Given the description of an element on the screen output the (x, y) to click on. 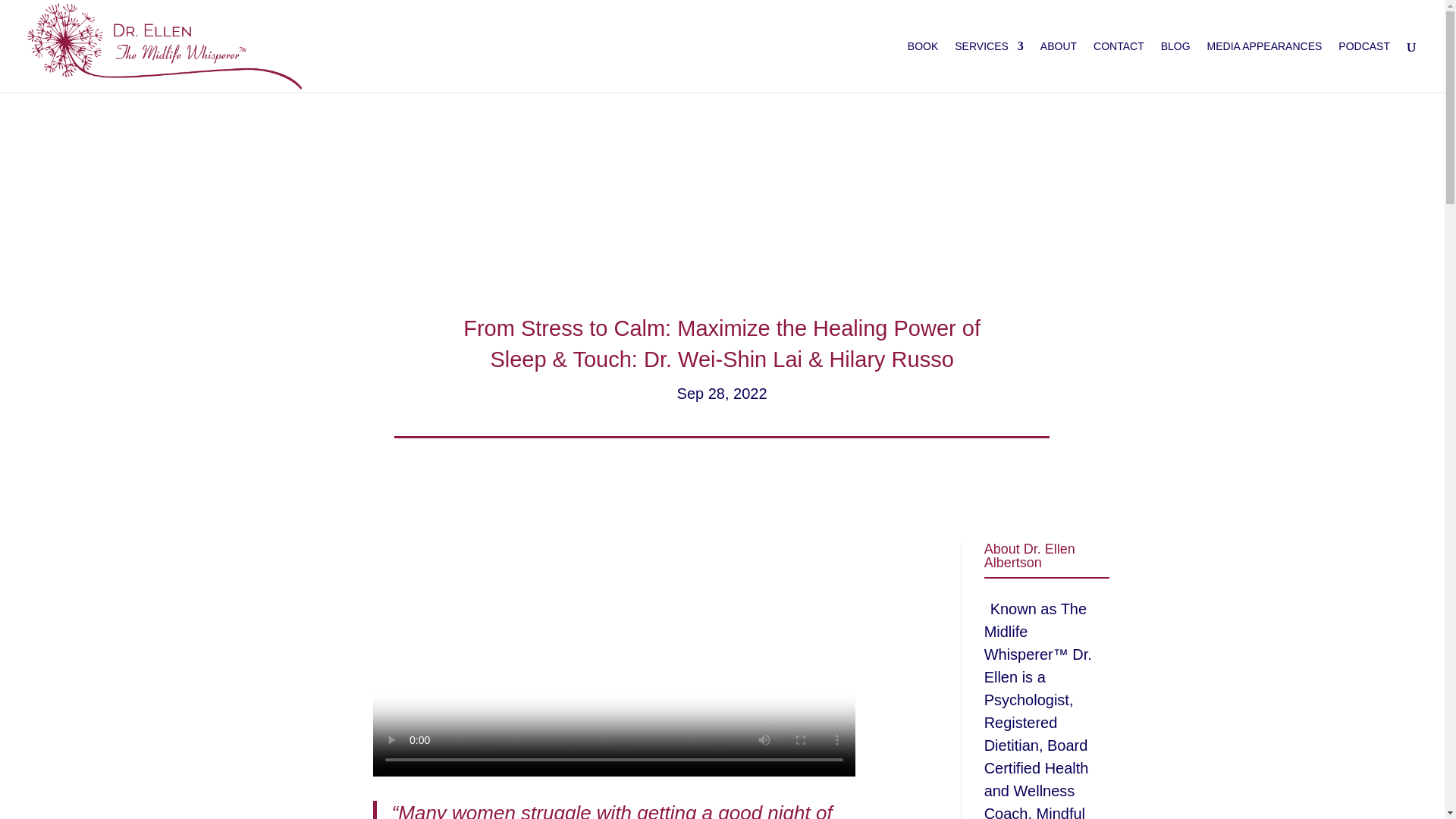
SERVICES (989, 66)
PODCAST (1364, 66)
MEDIA APPEARANCES (1264, 66)
CONTACT (1118, 66)
